Given the description of an element on the screen output the (x, y) to click on. 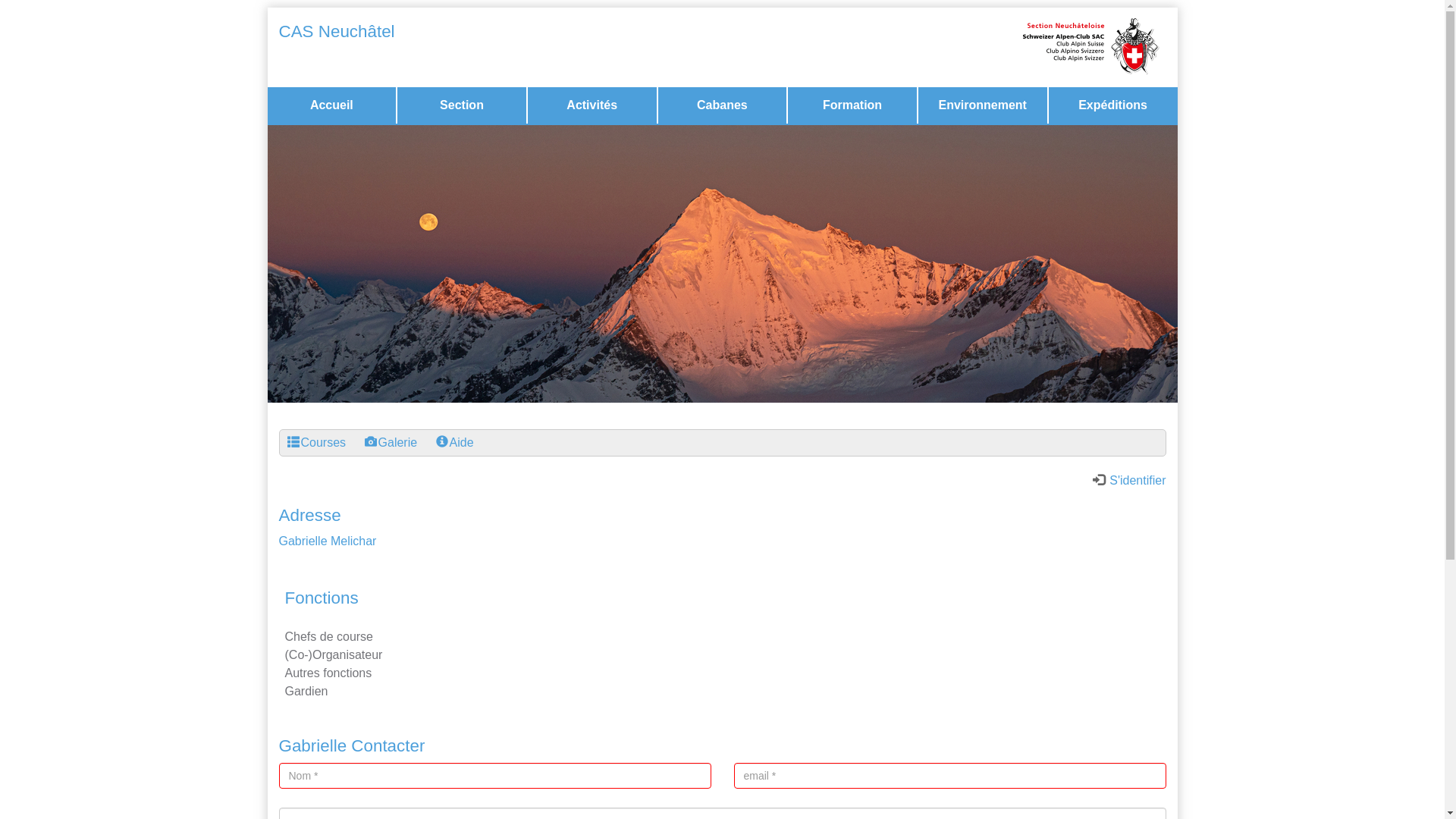
Aide Element type: text (454, 442)
Section Element type: text (461, 105)
Accueil Element type: text (330, 105)
S'identifier Element type: text (1129, 479)
Gabrielle Melichar Element type: text (327, 540)
Formation Element type: text (851, 105)
Cabanes Element type: text (722, 105)
Cabanes Element type: text (722, 105)
Section Element type: text (461, 105)
Formation Element type: text (852, 105)
Courses Element type: hover (292, 442)
Galerie Element type: text (390, 442)
Courses Element type: text (315, 442)
Accueil Element type: text (331, 105)
Environnement Element type: text (982, 105)
Environnement Element type: text (982, 105)
